Given the description of an element on the screen output the (x, y) to click on. 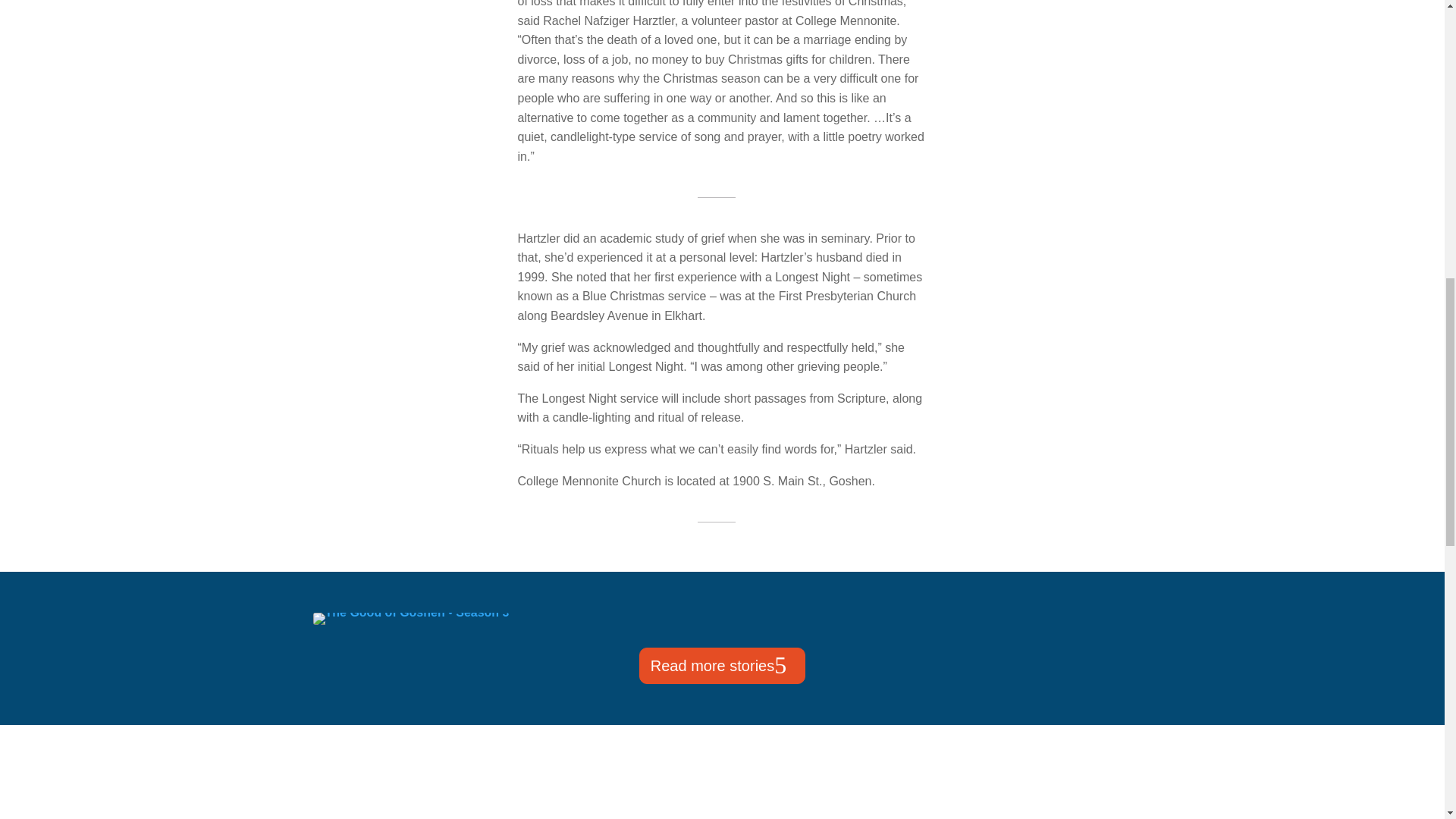
Read more stories (722, 665)
